Given the description of an element on the screen output the (x, y) to click on. 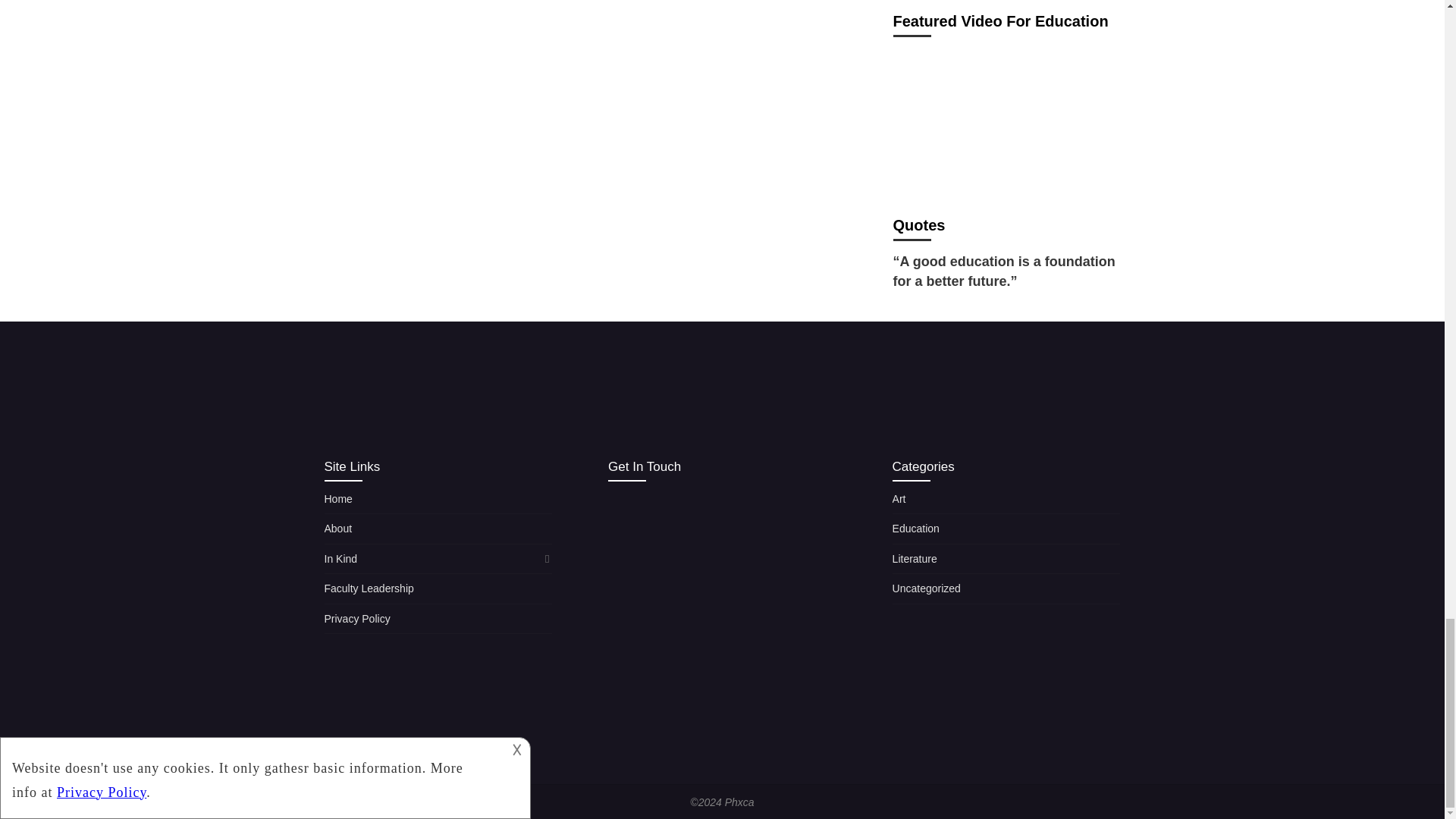
YouTube video player (1007, 121)
